Given the description of an element on the screen output the (x, y) to click on. 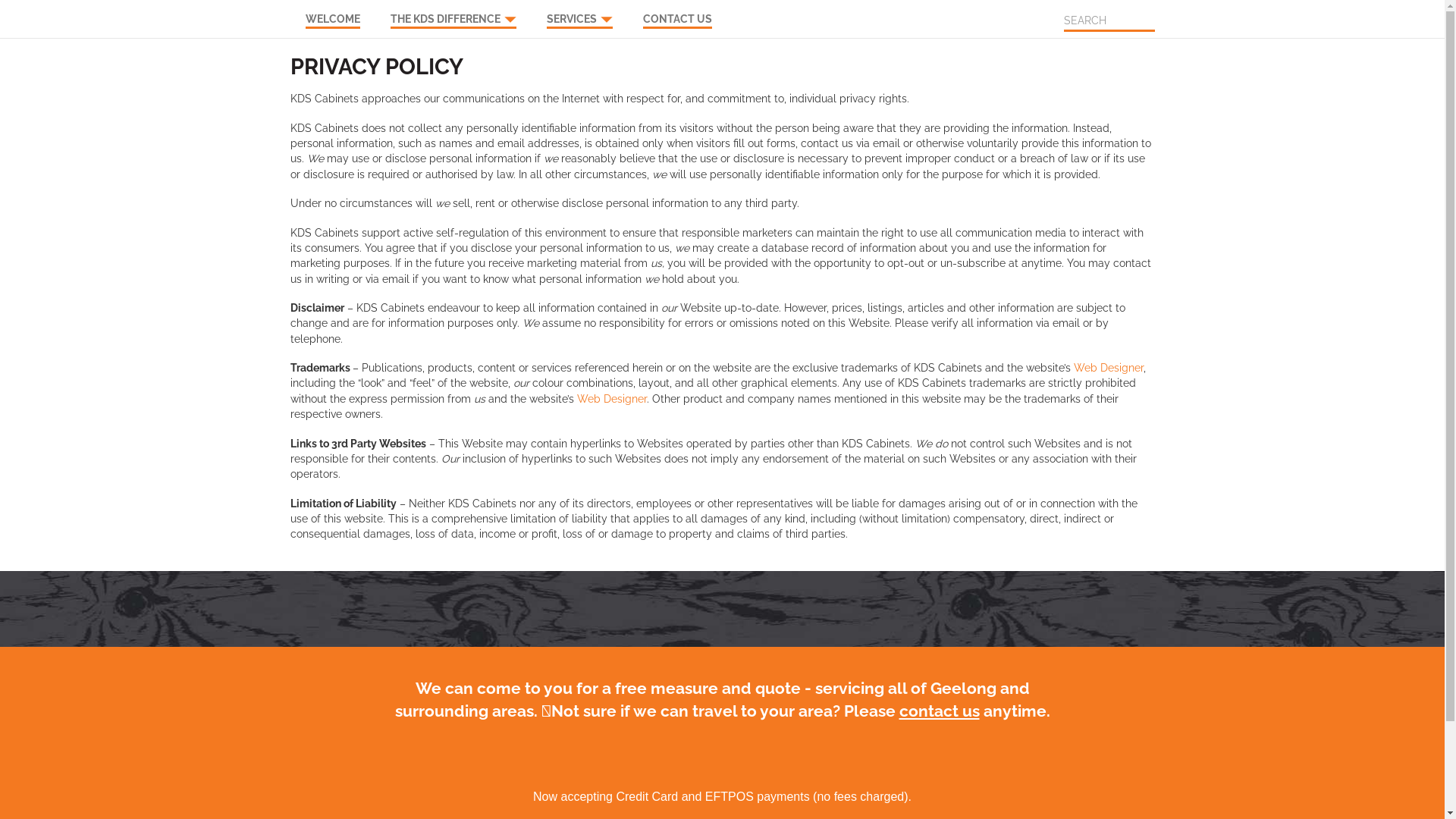
WELCOME Element type: text (331, 14)
THE KDS DIFFERENCE Element type: text (452, 14)
SERVICES Element type: text (578, 14)
contact us Element type: text (939, 710)
CONTACT US Element type: text (677, 14)
Web Designer Element type: text (1108, 367)
Web Designer Element type: text (611, 398)
